Given the description of an element on the screen output the (x, y) to click on. 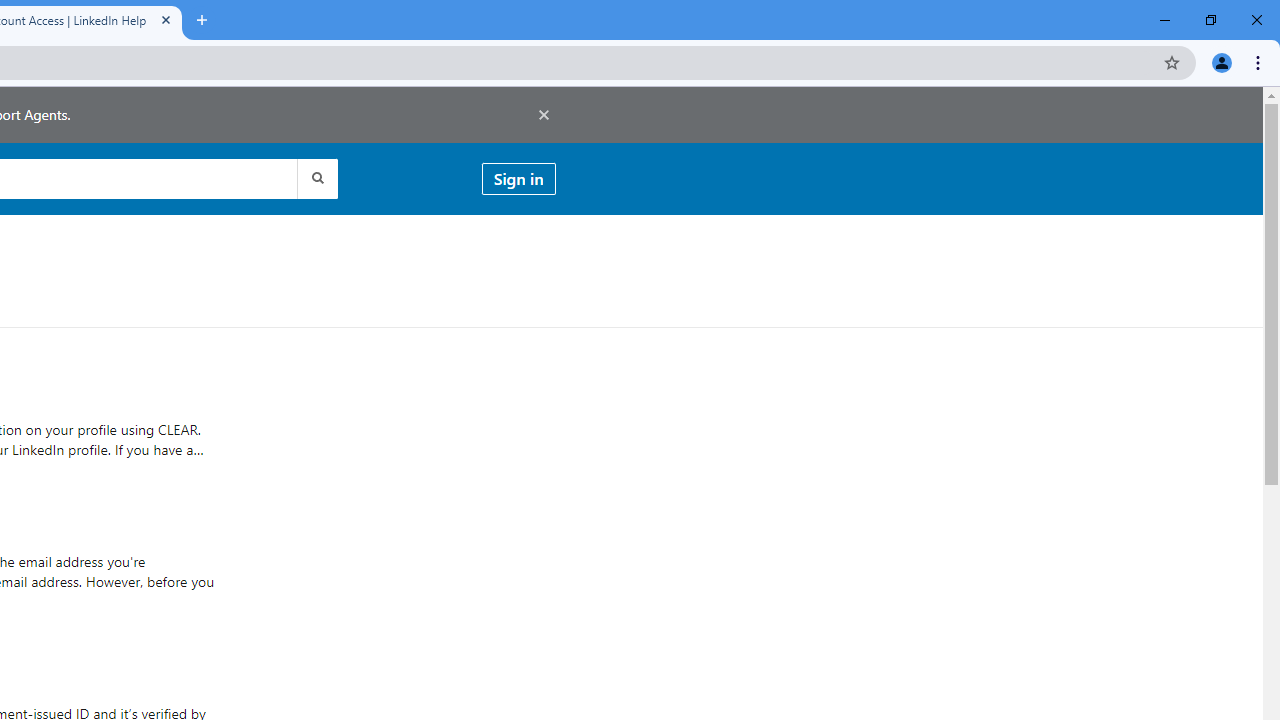
Submit search (316, 178)
